Given the description of an element on the screen output the (x, y) to click on. 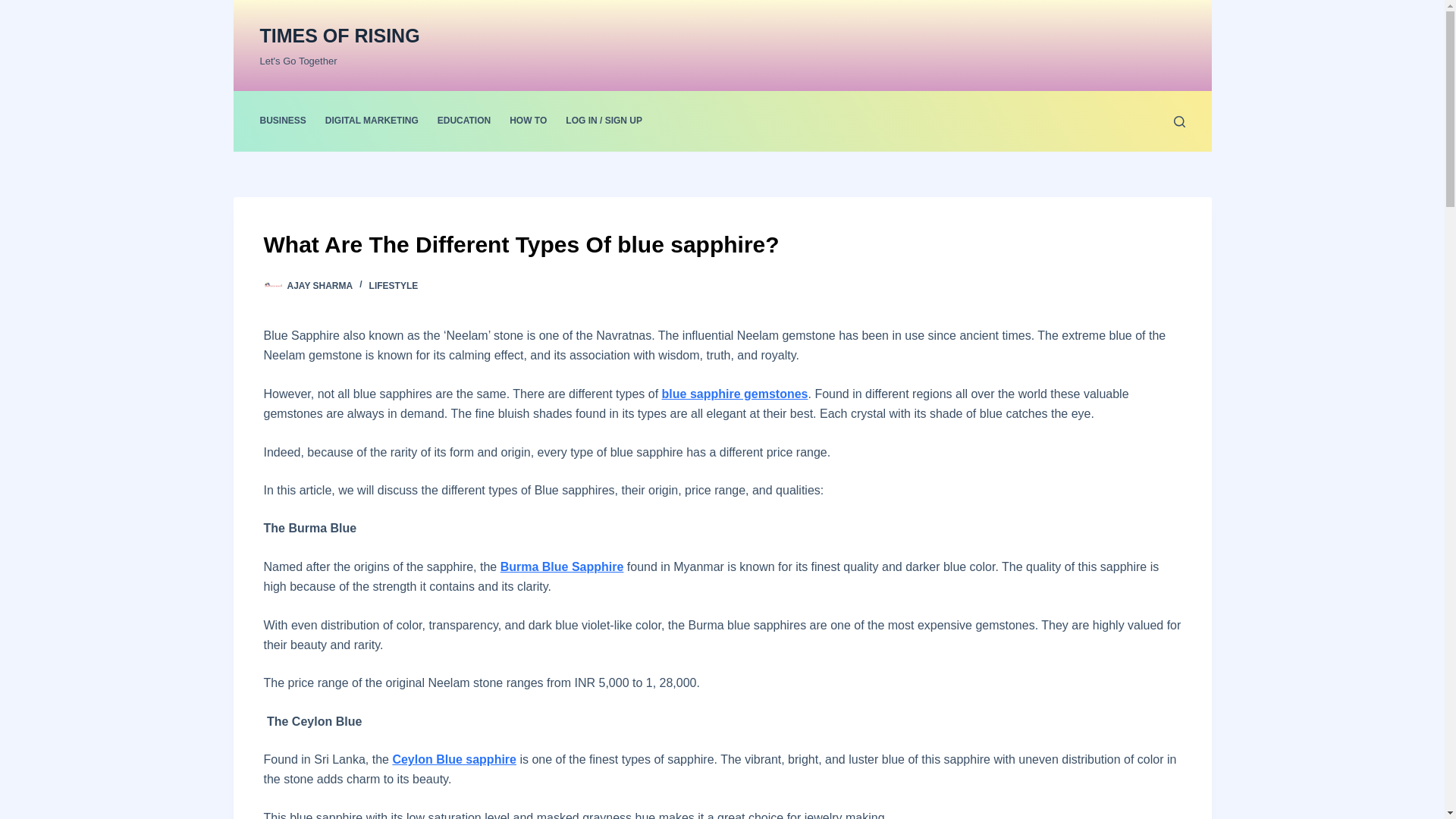
Ceylon Blue sapphire (453, 758)
EDUCATION (463, 120)
LIFESTYLE (394, 285)
DIGITAL MARKETING (371, 120)
TIMES OF RISING (339, 35)
blue sapphire gemstones (735, 393)
Posts by ajay sharma (319, 285)
What Are The Different Types Of blue sapphire? (721, 244)
Burma Blue Sapphire (562, 566)
AJAY SHARMA (319, 285)
